Given the description of an element on the screen output the (x, y) to click on. 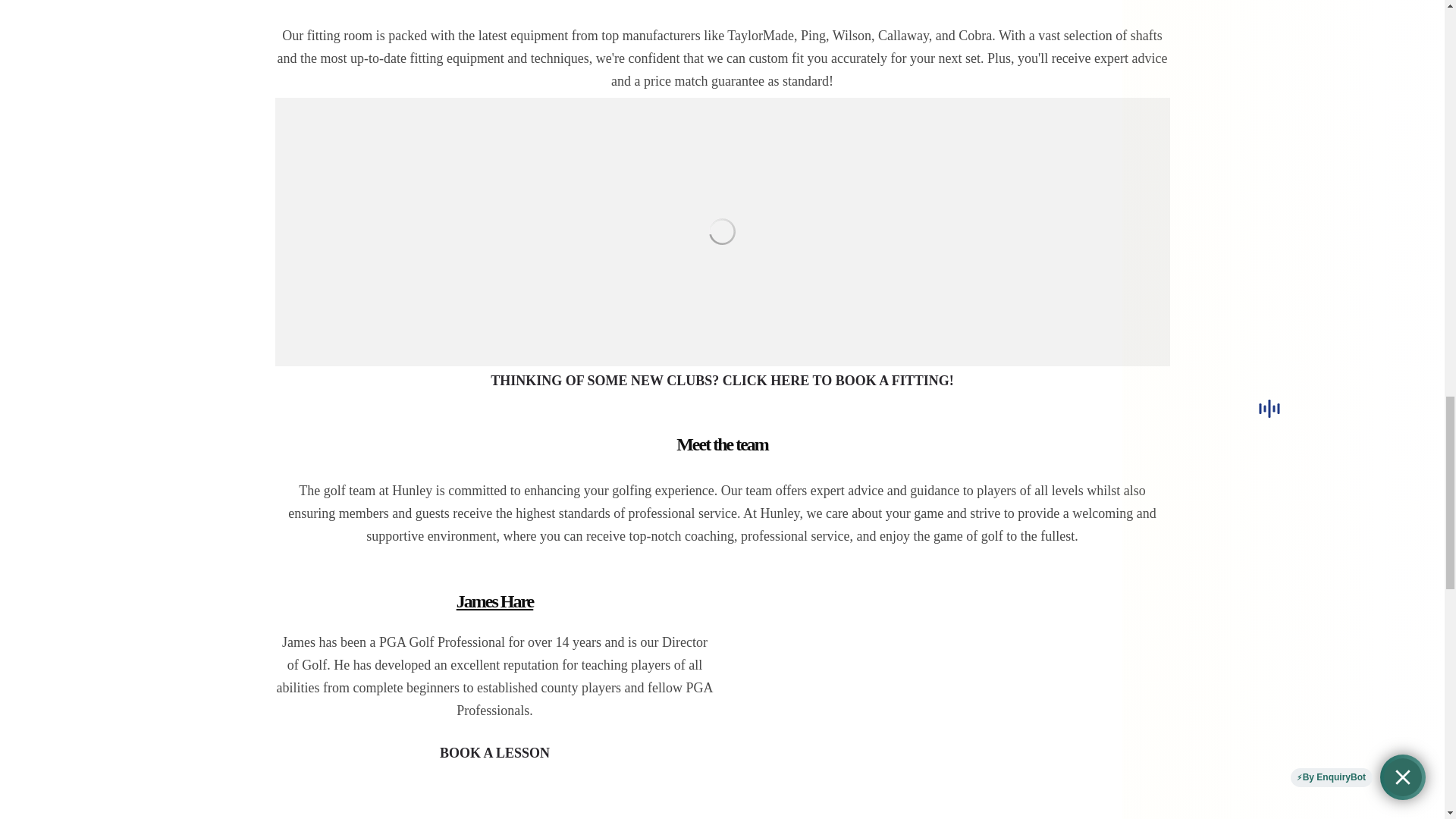
BOOK A LESSON (495, 753)
THINKING OF SOME NEW CLUBS? CLICK HERE TO BOOK A FITTING! (722, 380)
